Given the description of an element on the screen output the (x, y) to click on. 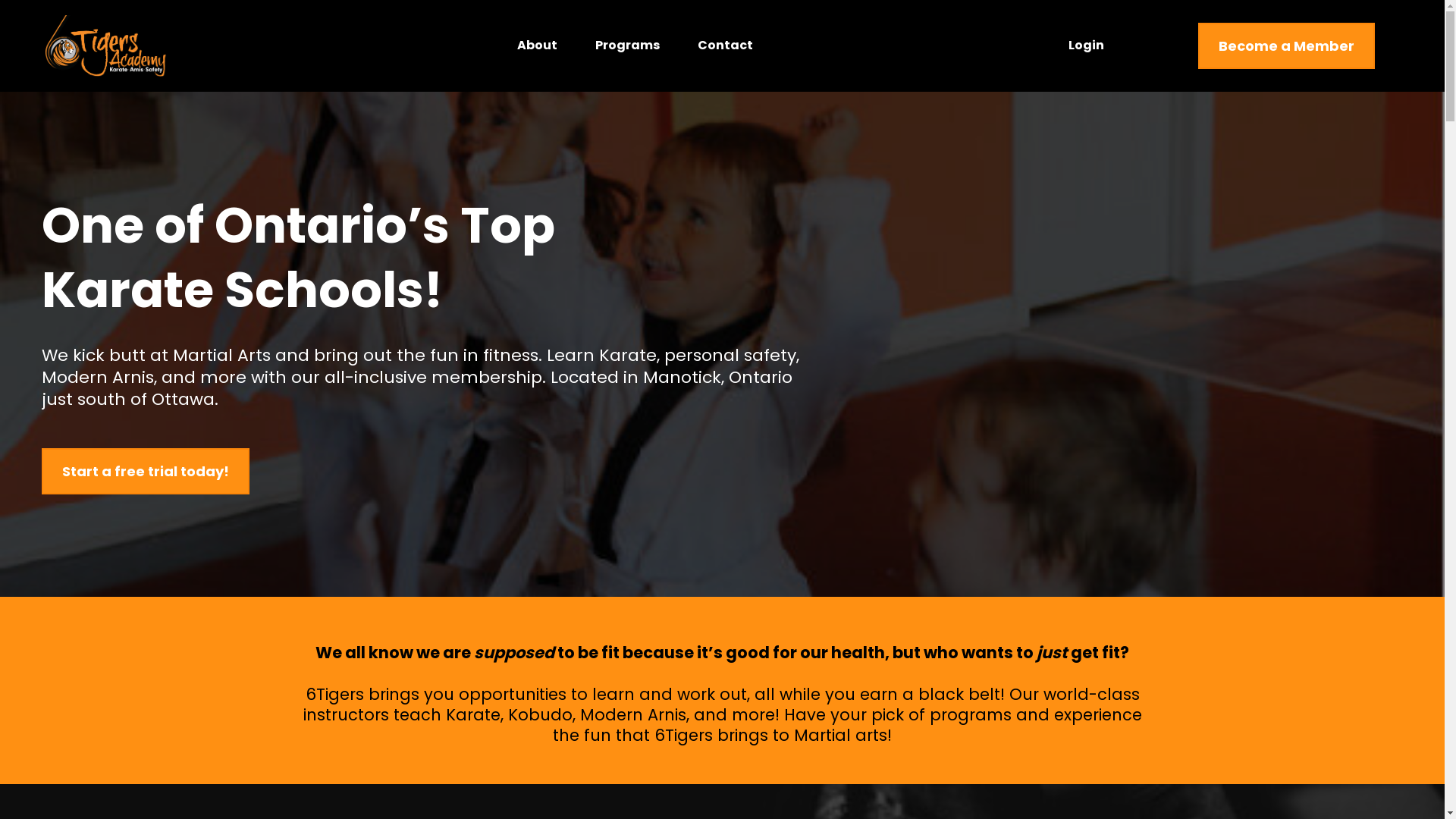
Programs Element type: text (627, 45)
Login Element type: text (1086, 45)
Become a Member Element type: text (1286, 45)
About Element type: text (537, 45)
Contact Element type: text (724, 45)
Start a free trial today! Element type: text (145, 471)
